Given the description of an element on the screen output the (x, y) to click on. 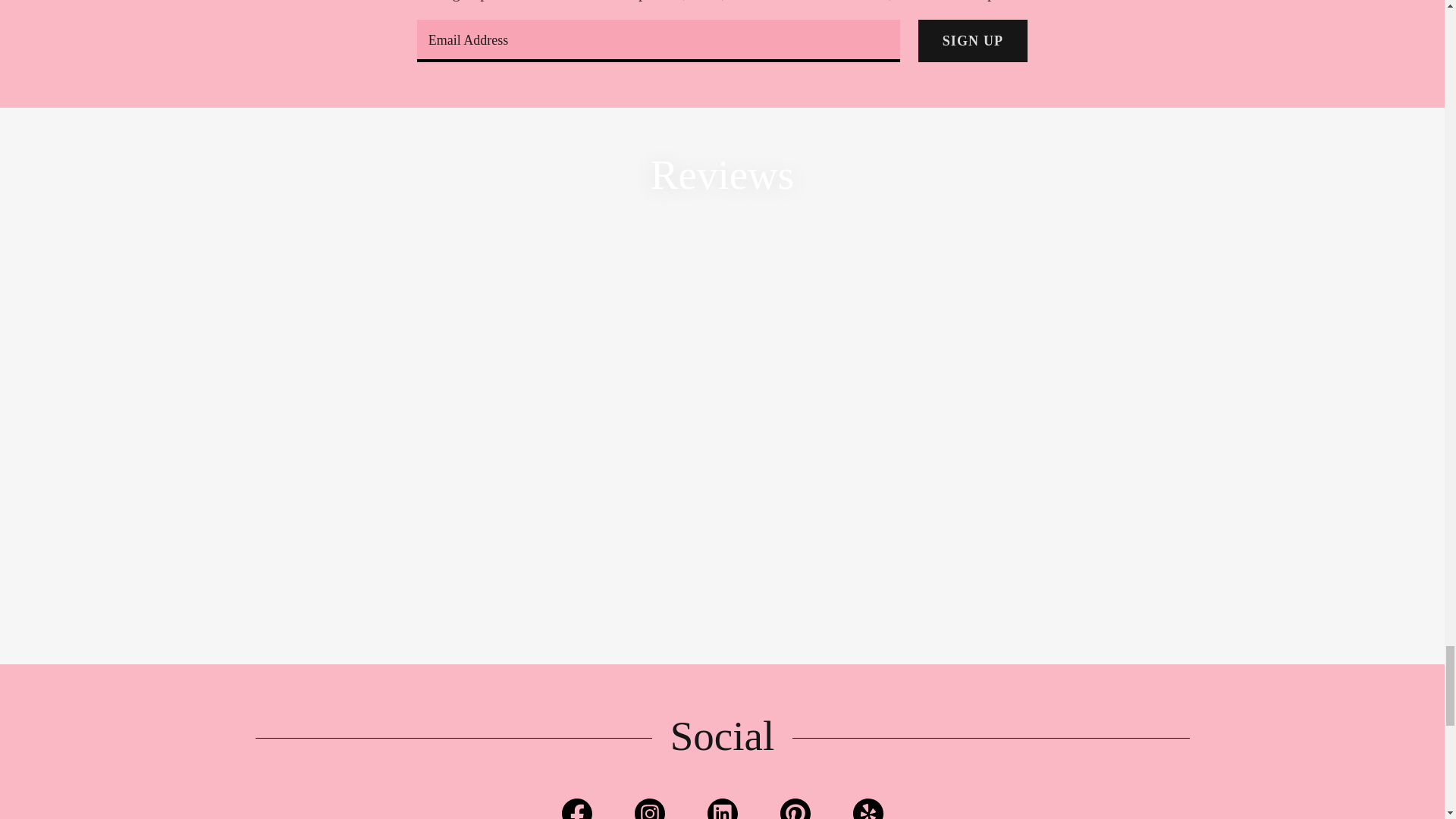
SIGN UP (972, 40)
